Given the description of an element on the screen output the (x, y) to click on. 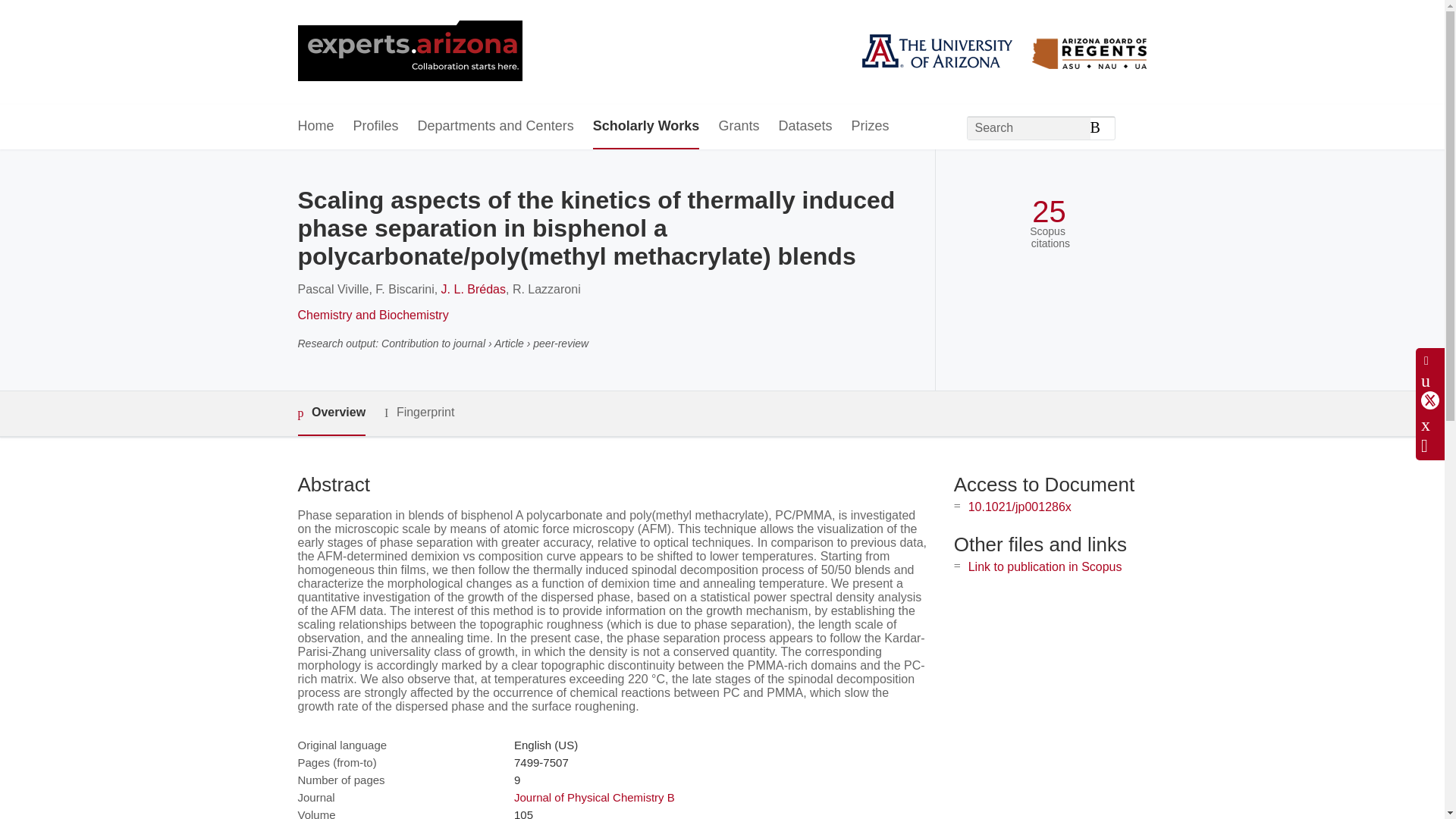
25 (1048, 212)
University of Arizona Home (409, 52)
Link to publication in Scopus (1045, 566)
Datasets (804, 126)
Grants (737, 126)
Profiles (375, 126)
Fingerprint (419, 412)
Scholarly Works (646, 126)
Departments and Centers (495, 126)
